Given the description of an element on the screen output the (x, y) to click on. 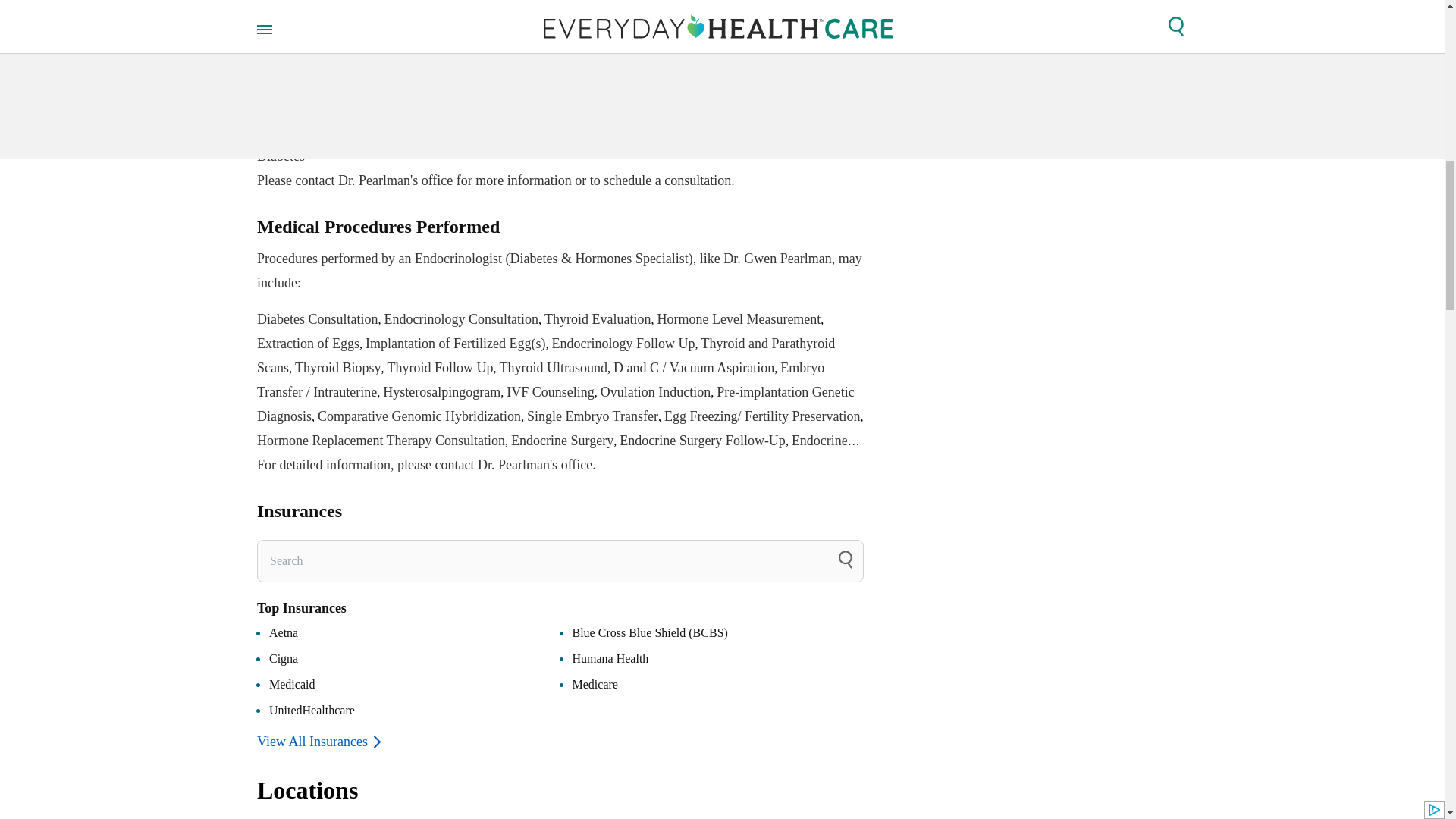
Prediabetes (651, 131)
Type 2 Diabetes (547, 143)
Thyroid Ultrasound (553, 367)
Graves' Disease (405, 107)
Endocrinology Consultation (460, 319)
Hypophosphatasia (307, 131)
Hyperthyroidism (718, 107)
Thyroid and Parathyroid Scans (545, 355)
Hyperphosphatemia (610, 107)
IVF Counseling (550, 391)
